Given the description of an element on the screen output the (x, y) to click on. 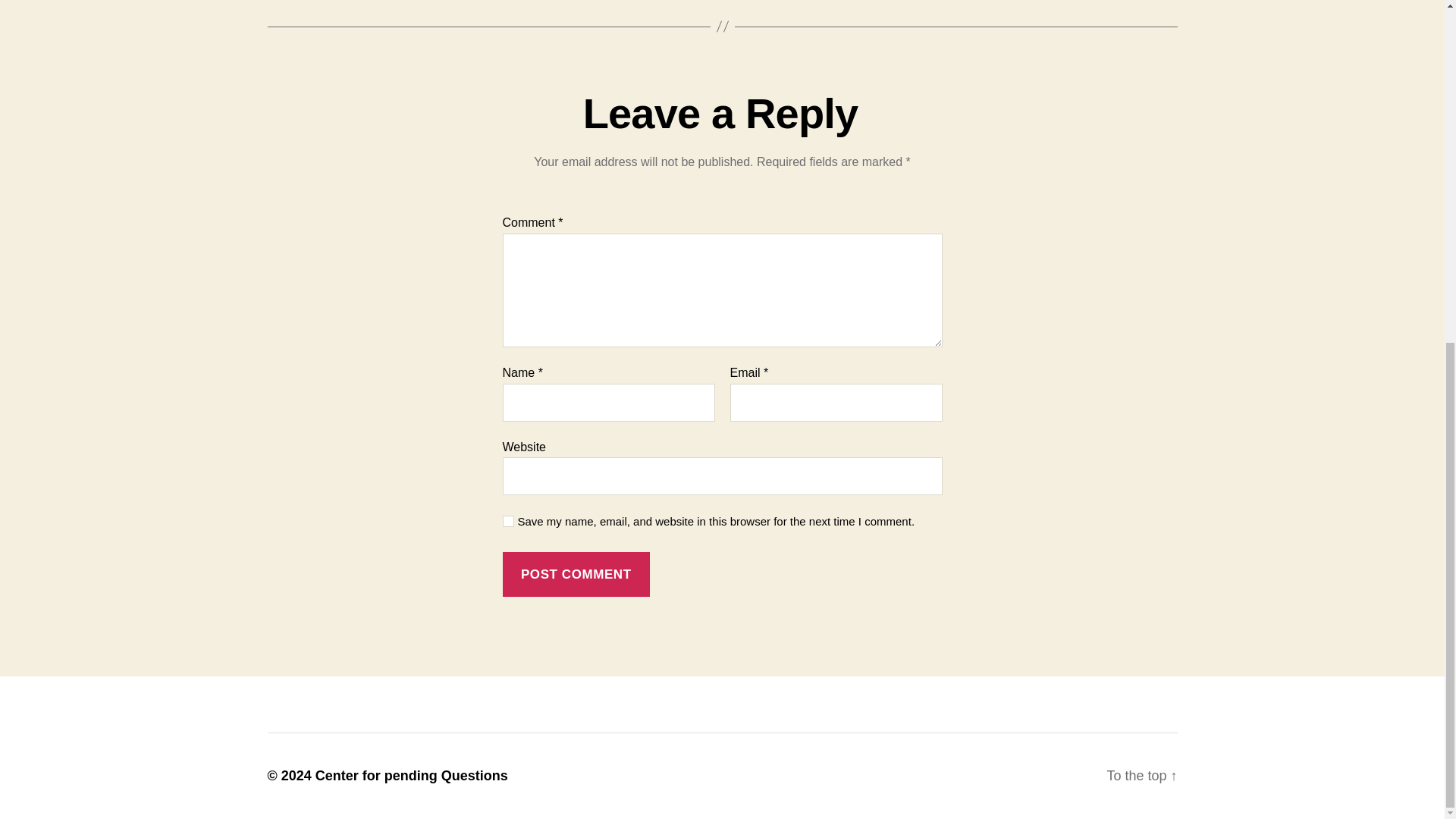
yes (507, 521)
Post Comment (575, 574)
